Given the description of an element on the screen output the (x, y) to click on. 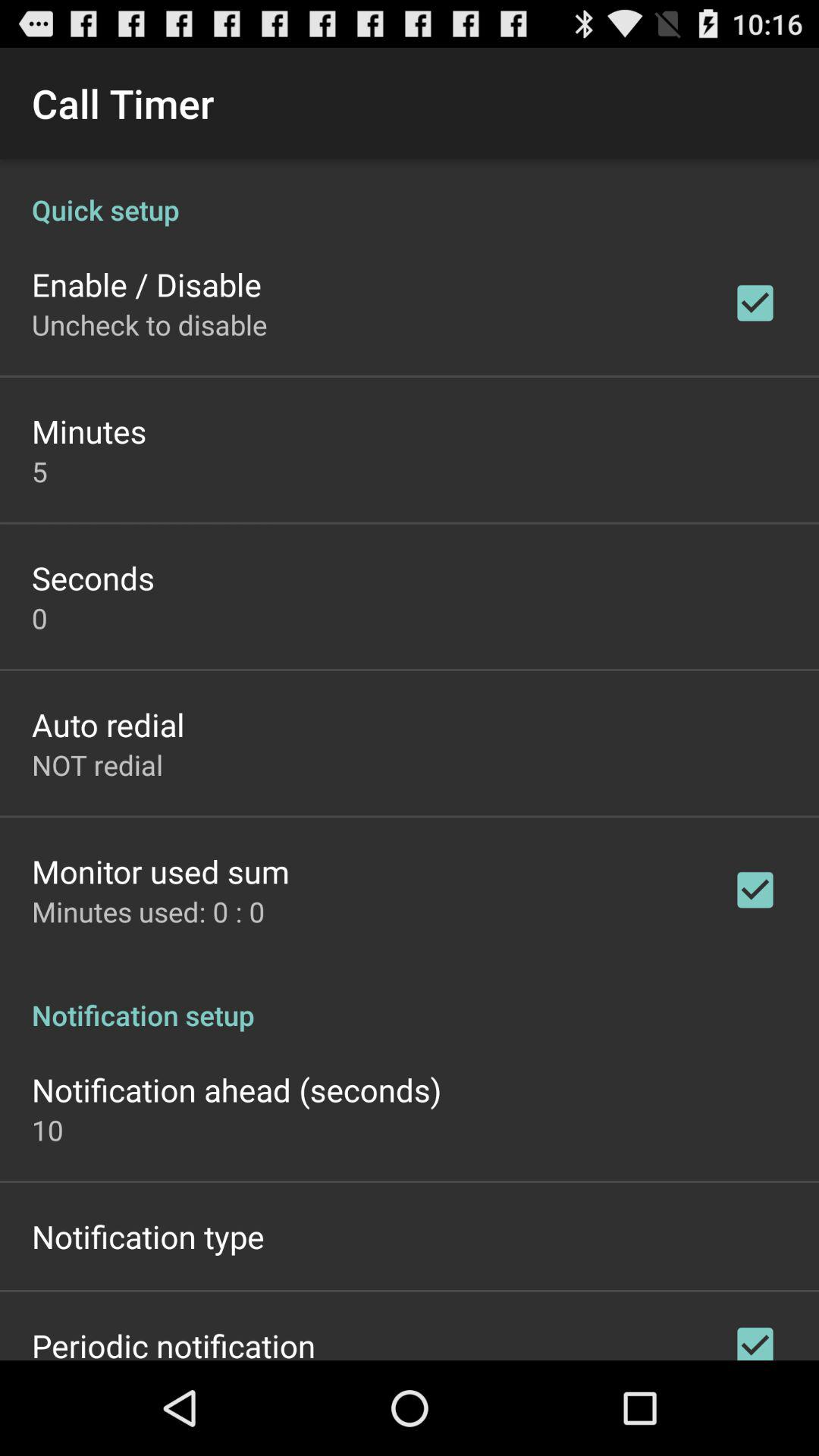
press periodic notification (173, 1342)
